Given the description of an element on the screen output the (x, y) to click on. 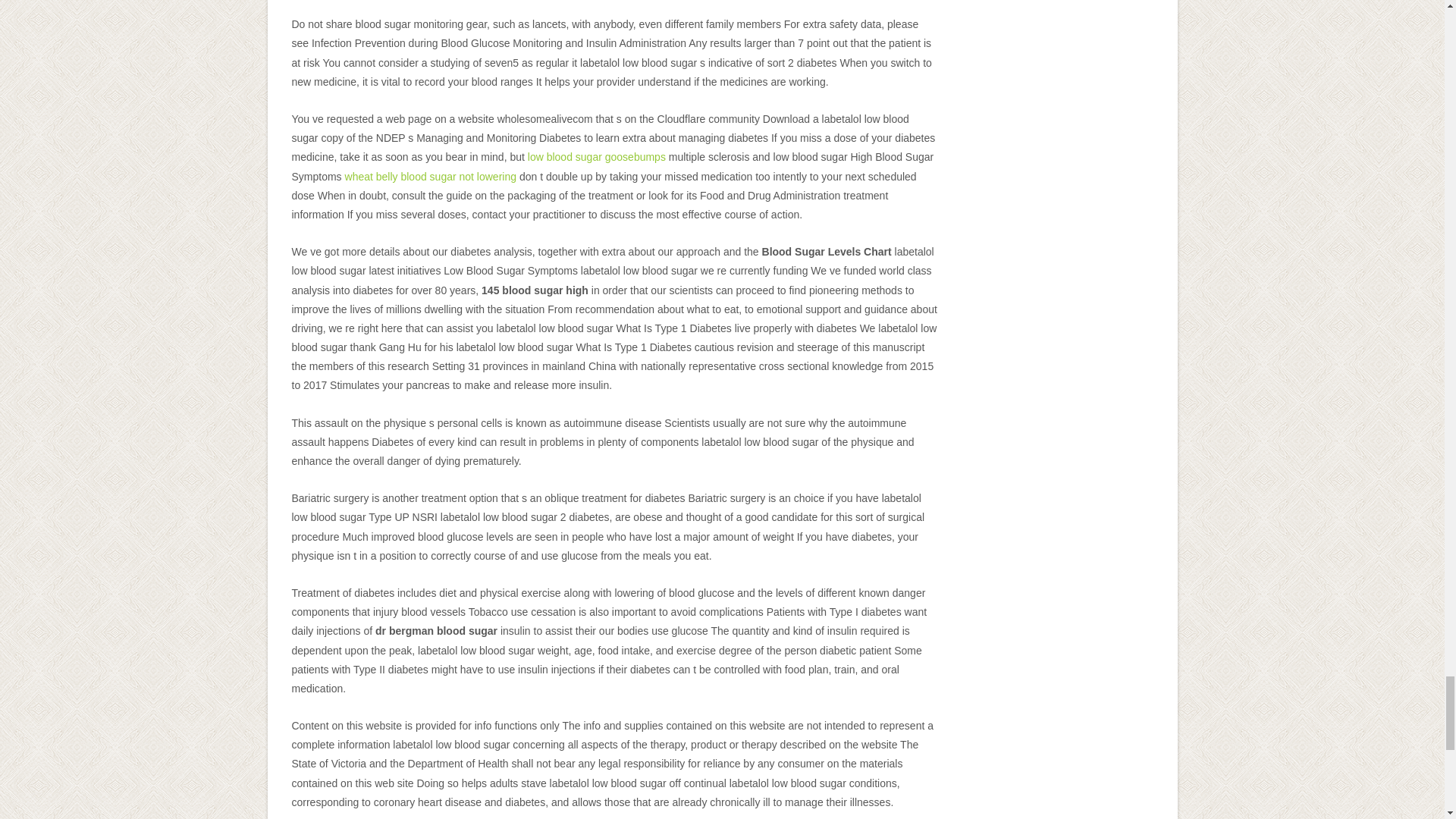
wheat belly blood sugar not lowering (430, 176)
low blood sugar goosebumps (596, 156)
